Given the description of an element on the screen output the (x, y) to click on. 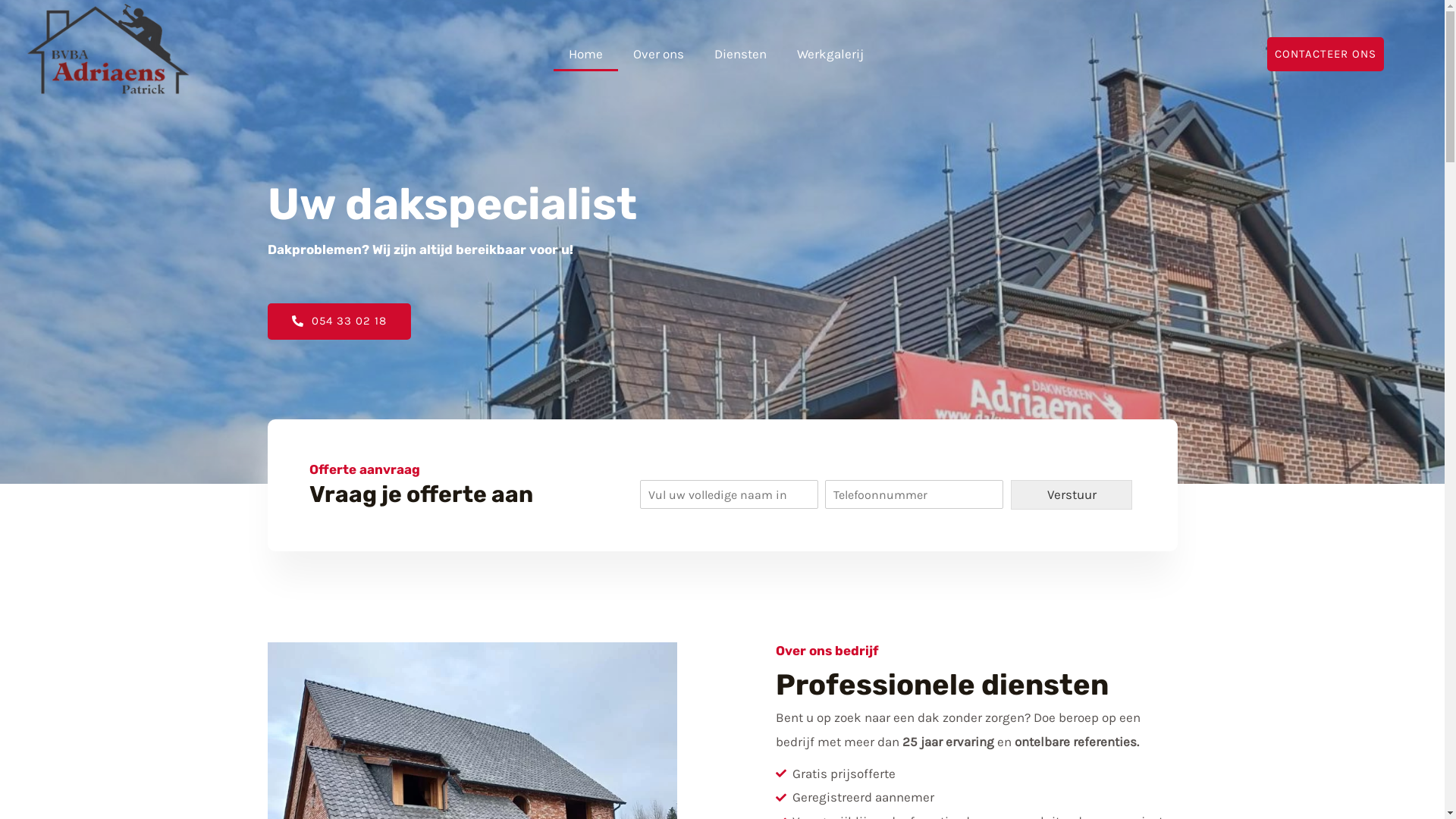
Over ons Element type: text (658, 53)
Diensten Element type: text (740, 53)
Werkgalerij Element type: text (829, 53)
Home Element type: text (585, 53)
CONTACTEER ONS Element type: text (1325, 54)
054 33 02 18 Element type: text (338, 321)
Verstuur Element type: text (1071, 494)
